Given the description of an element on the screen output the (x, y) to click on. 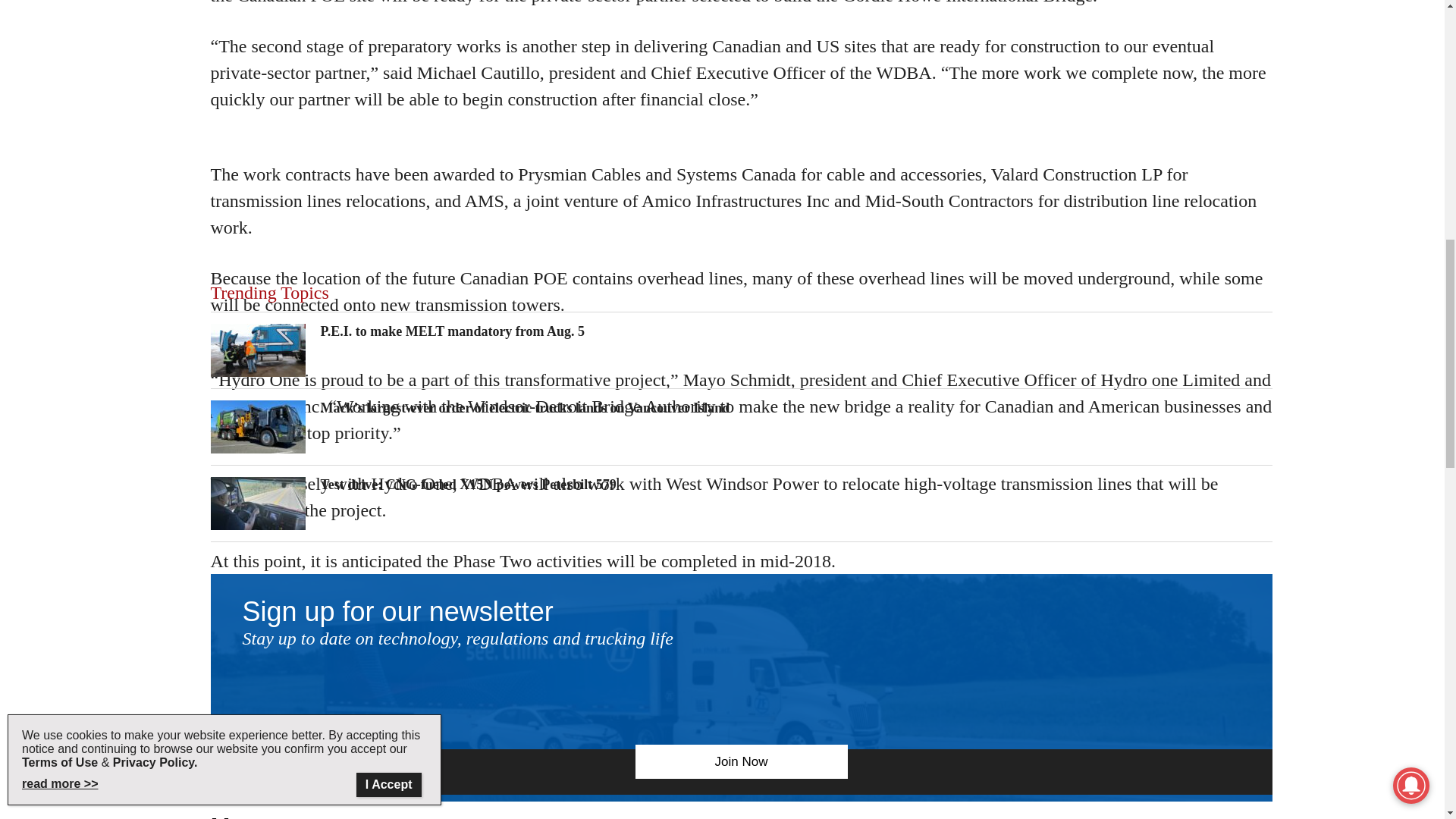
3rd party ad content (741, 13)
3rd party ad content (741, 154)
